Given the description of an element on the screen output the (x, y) to click on. 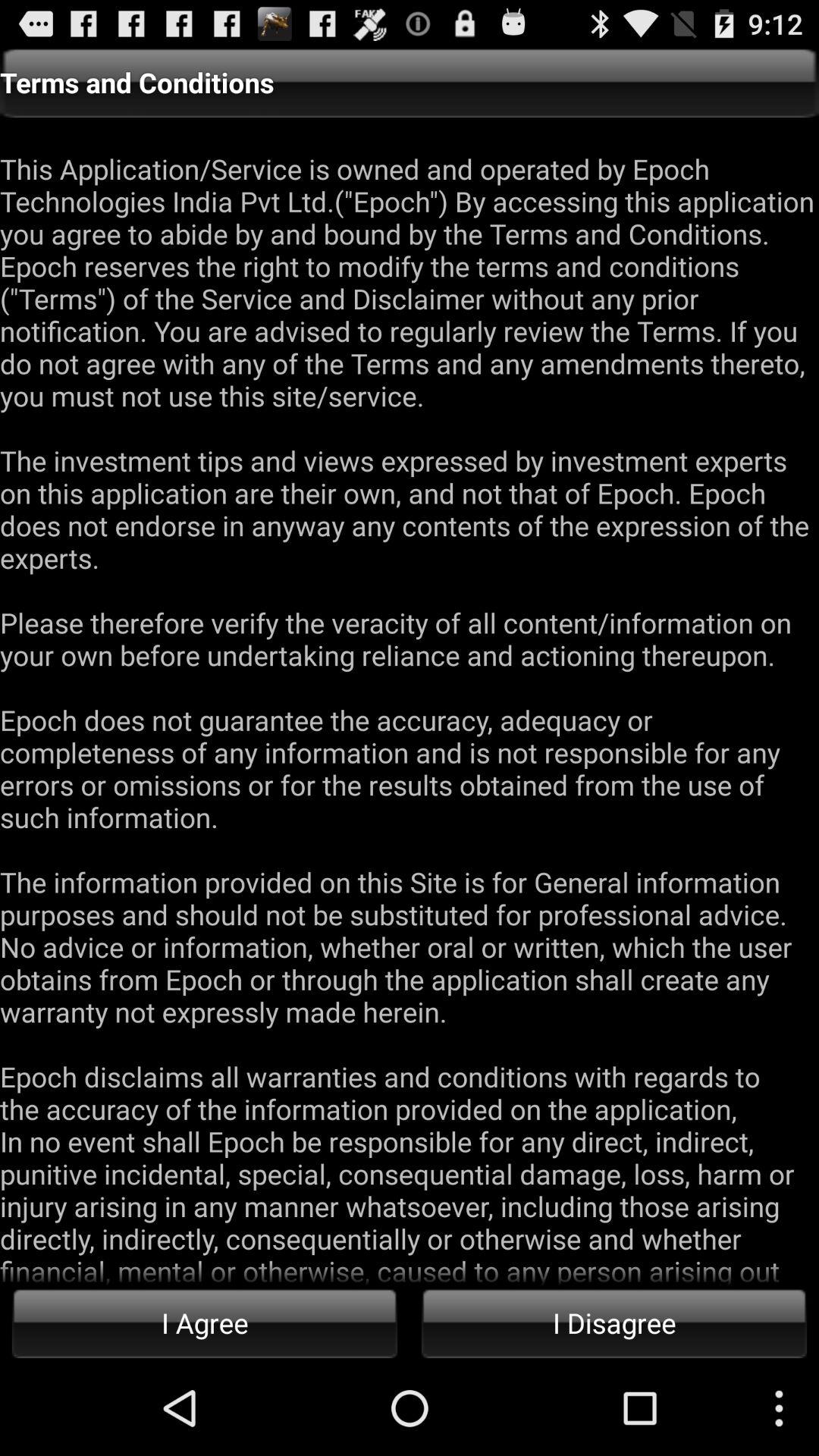
press the item below the this application service (614, 1323)
